Given the description of an element on the screen output the (x, y) to click on. 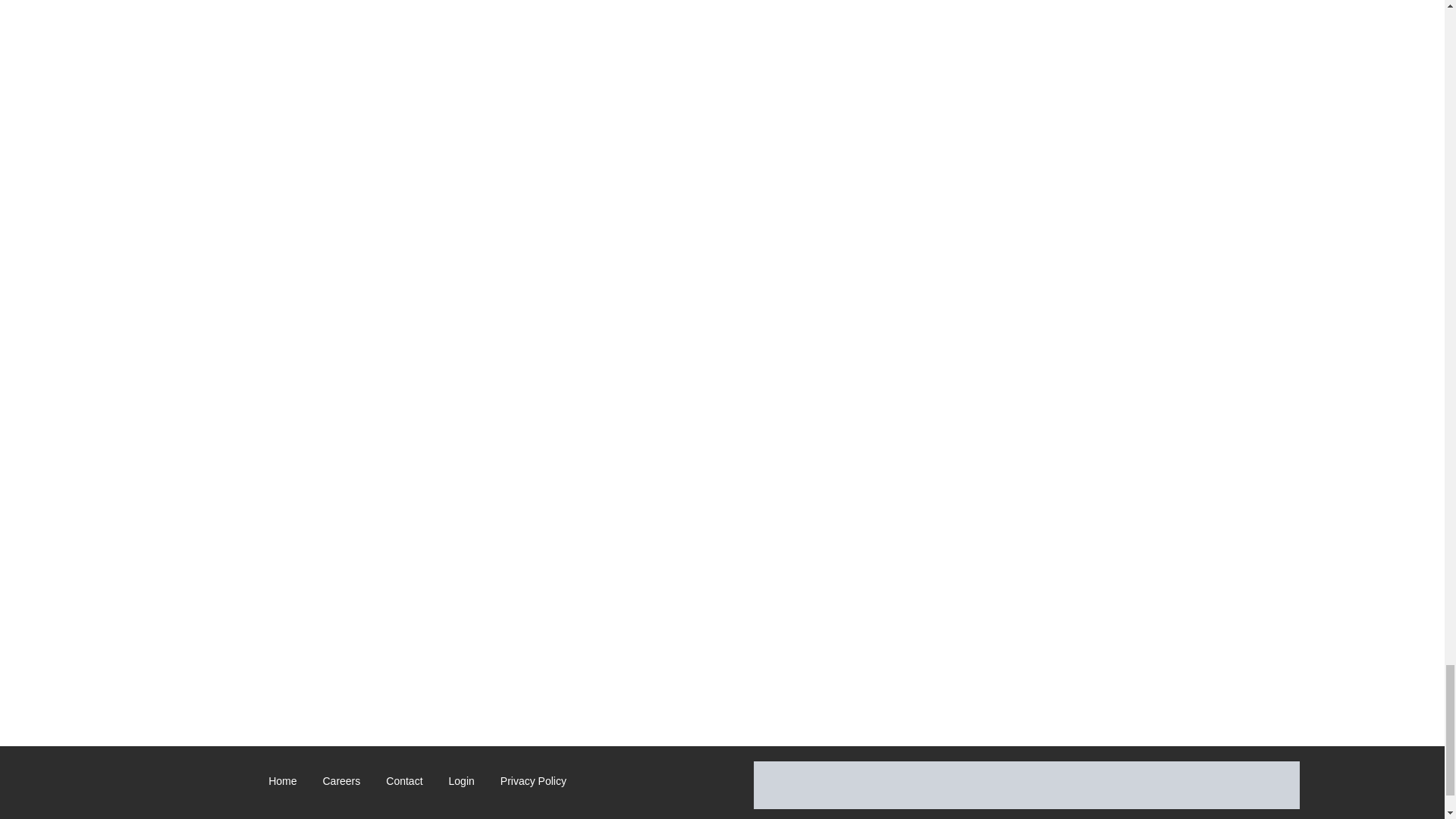
Login (461, 784)
Careers (341, 784)
Privacy Policy (533, 784)
Contact (403, 784)
associations (1027, 785)
Home (282, 784)
